Given the description of an element on the screen output the (x, y) to click on. 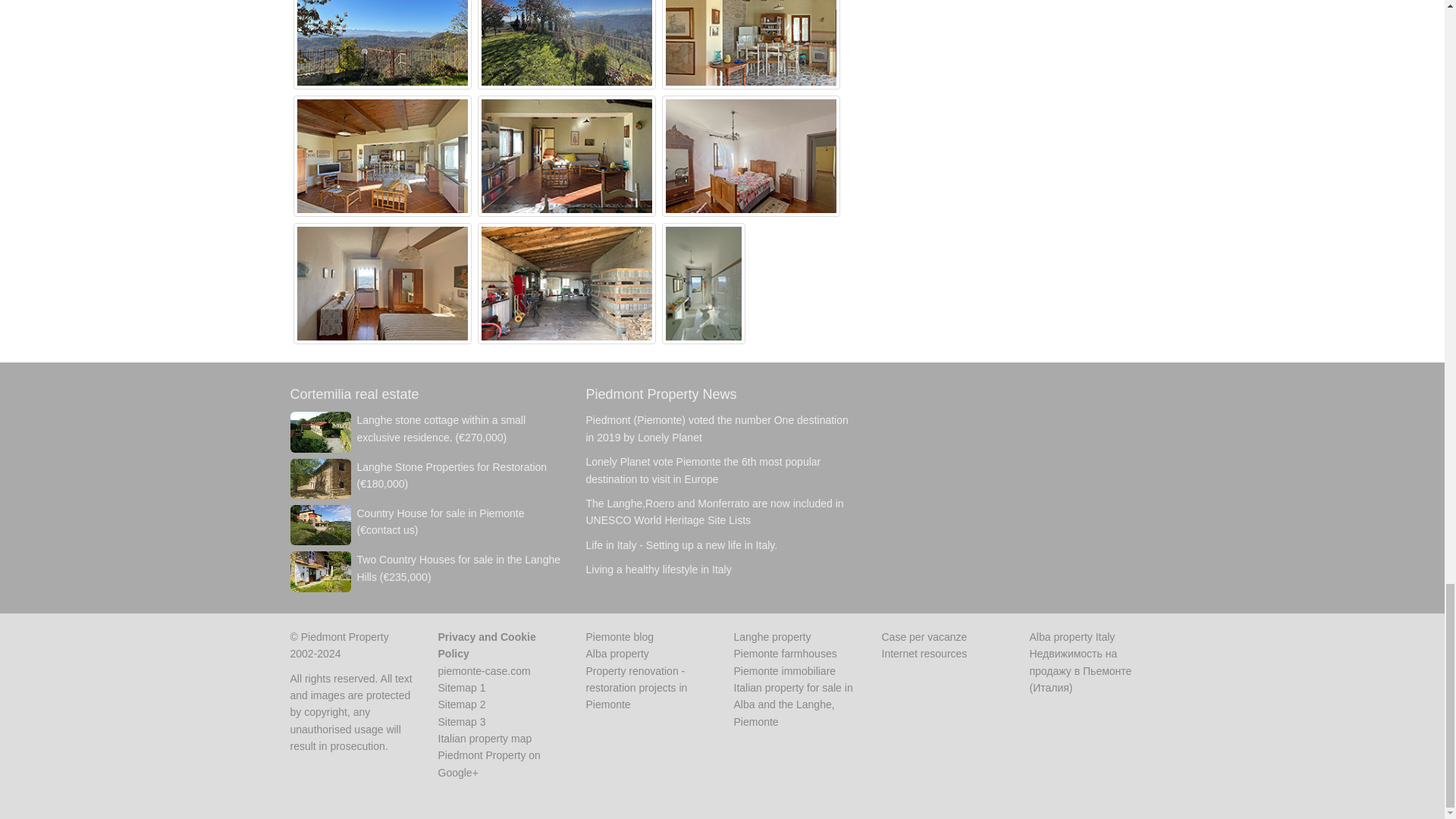
Living area (381, 155)
Gardens (566, 28)
Kitchen area (750, 28)
Mountain views (381, 28)
